Given the description of an element on the screen output the (x, y) to click on. 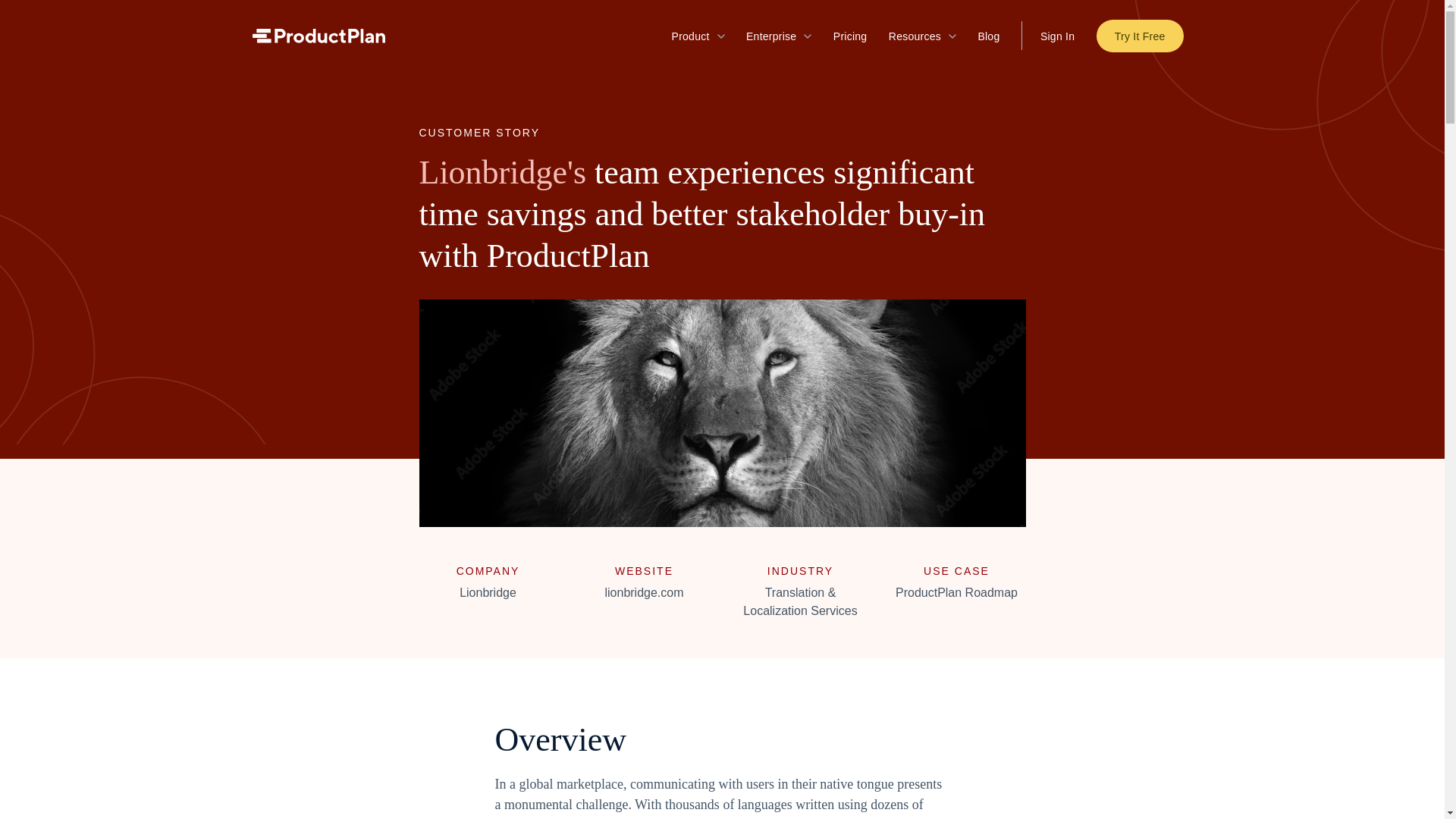
Product (698, 36)
ProductPlan (317, 38)
Sign In (1057, 35)
Resources (922, 36)
ProductPlan (317, 35)
Enterprise (777, 36)
Try It Free (1139, 35)
Pricing (849, 36)
Blog (987, 36)
